Given the description of an element on the screen output the (x, y) to click on. 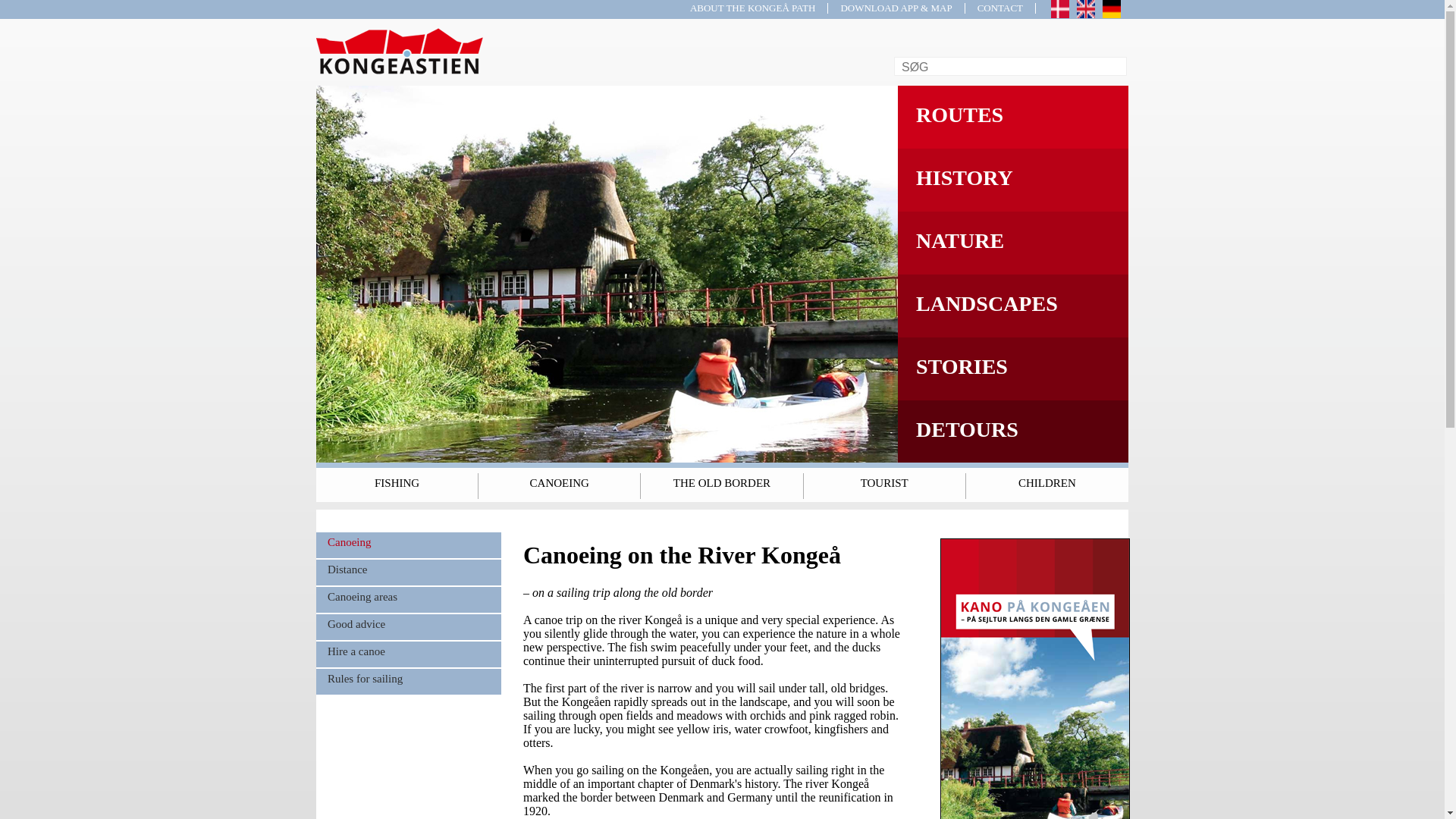
Canoeing (407, 544)
Dansk (1059, 9)
Deutsch (1111, 9)
NATURE (1013, 242)
Canoeing areas (407, 599)
Rules for sailing (407, 681)
DETOURS (1013, 431)
CHILDREN (1047, 482)
HISTORY (1013, 179)
Distance (407, 572)
Enter the terms you wish to search for. (1010, 66)
Good advice (407, 626)
English (1085, 9)
THE OLD BORDER (721, 482)
